Given the description of an element on the screen output the (x, y) to click on. 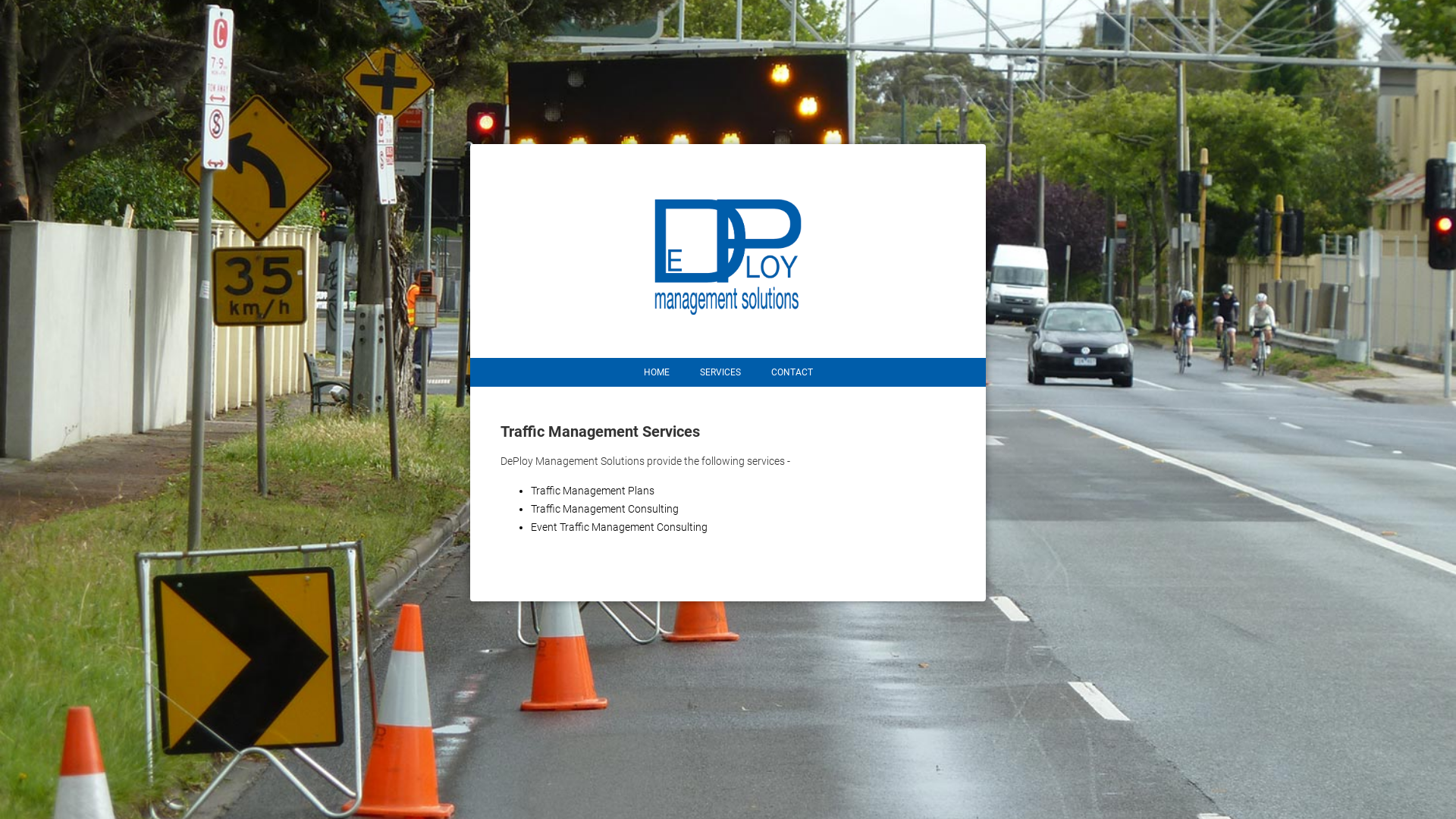
SERVICES Element type: text (719, 371)
CONTACT Element type: text (790, 371)
HOME Element type: text (655, 371)
